Given the description of an element on the screen output the (x, y) to click on. 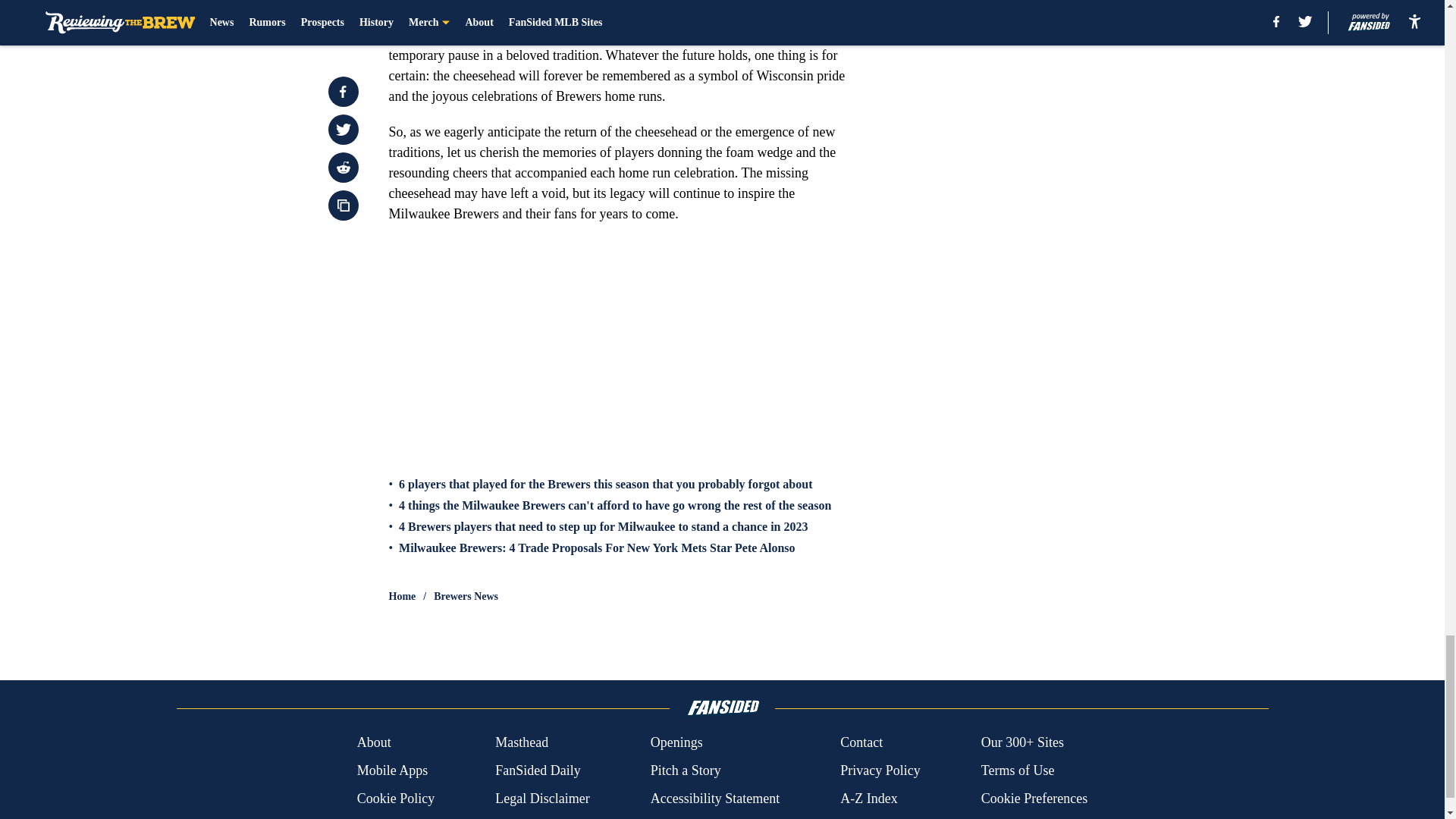
Home (401, 596)
Brewers News (465, 596)
Masthead (521, 742)
Mobile Apps (392, 770)
Openings (676, 742)
Contact (861, 742)
